Given the description of an element on the screen output the (x, y) to click on. 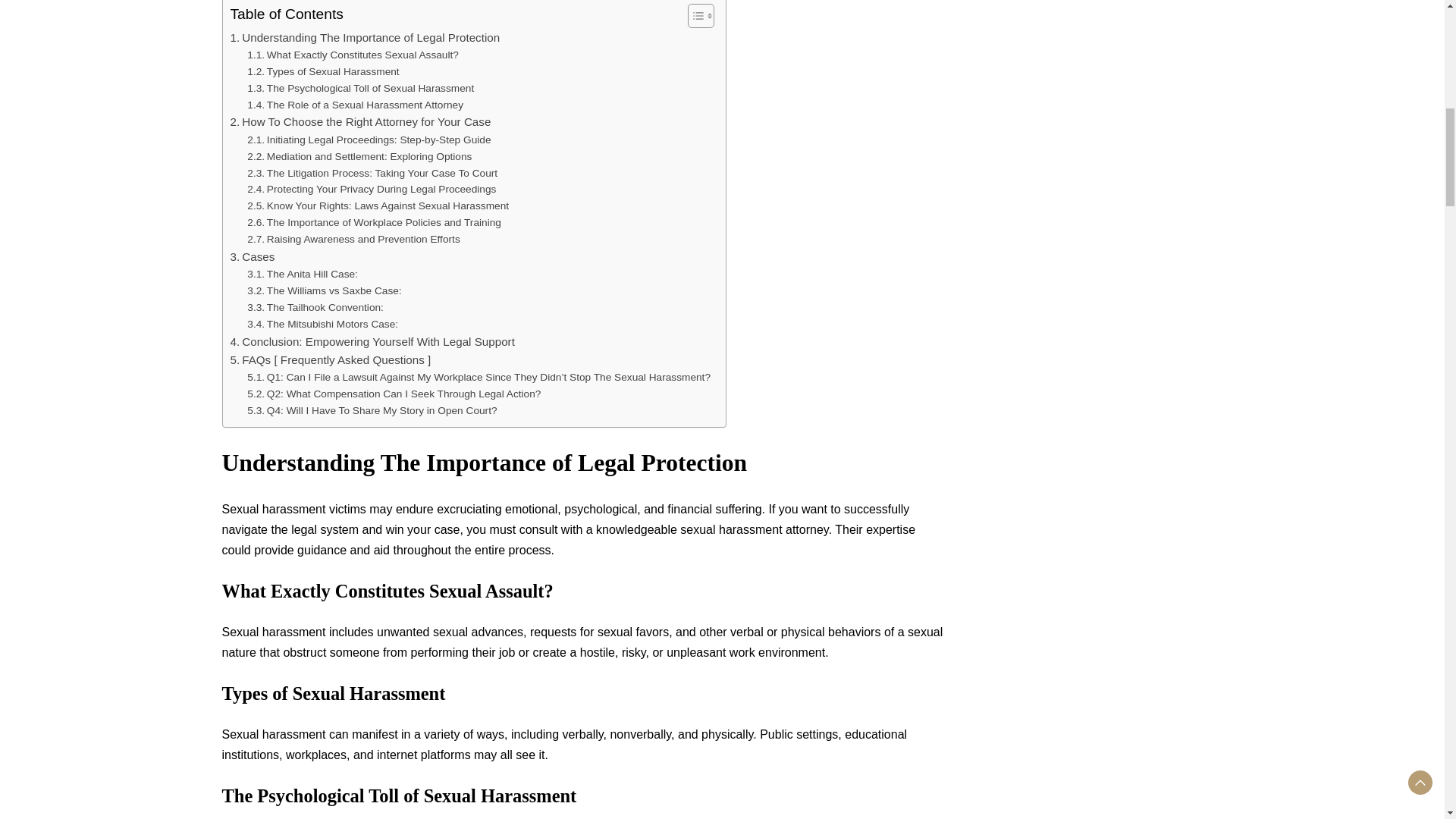
The Importance of Workplace Policies and Training (373, 222)
The Litigation Process: Taking Your Case To Court (372, 173)
The Mitsubishi Motors Case: (322, 324)
Raising Awareness and Prevention Efforts (353, 239)
Initiating Legal Proceedings: Step-by-Step Guide (368, 139)
Know Your Rights: Laws Against Sexual Harassment (377, 206)
Types of Sexual Harassment (322, 71)
Cases  (254, 257)
Initiating Legal Proceedings: Step-by-Step Guide (368, 139)
Mediation and Settlement: Exploring Options (359, 156)
The Role of a Sexual Harassment Attorney (355, 105)
The Importance of Workplace Policies and Training (373, 222)
What Exactly Constitutes Sexual Assault? (352, 54)
Protecting Your Privacy During Legal Proceedings (371, 189)
The Role of a Sexual Harassment Attorney (355, 105)
